Given the description of an element on the screen output the (x, y) to click on. 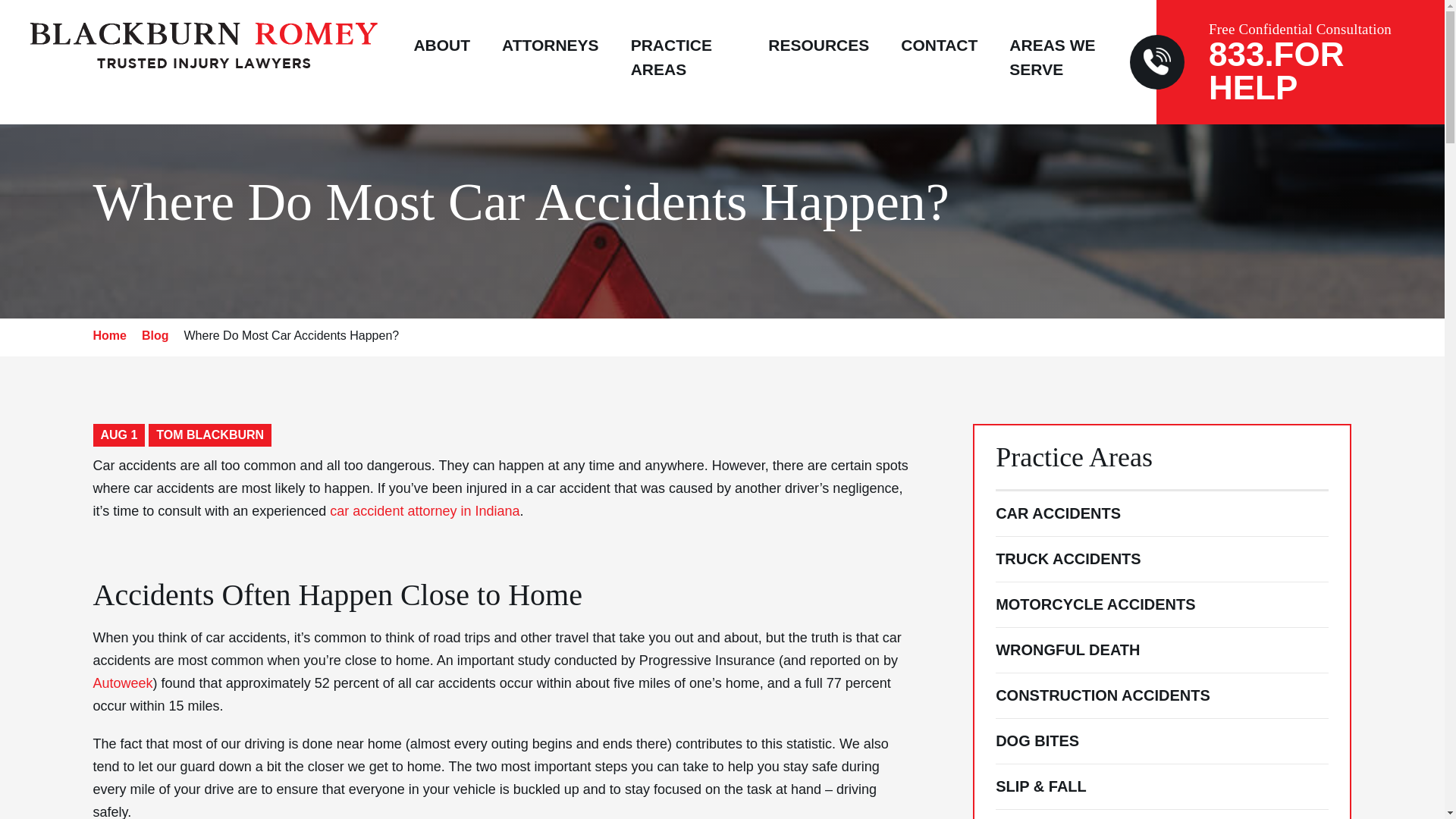
car accident attorney in Indiana (424, 510)
RESOURCES (818, 63)
CONTACT (938, 63)
Blog (154, 335)
TOM BLACKBURN (209, 434)
833.FOR HELP (1275, 71)
ATTORNEYS (550, 63)
Home (109, 335)
Home (109, 335)
PRACTICE AREAS (670, 76)
